Given the description of an element on the screen output the (x, y) to click on. 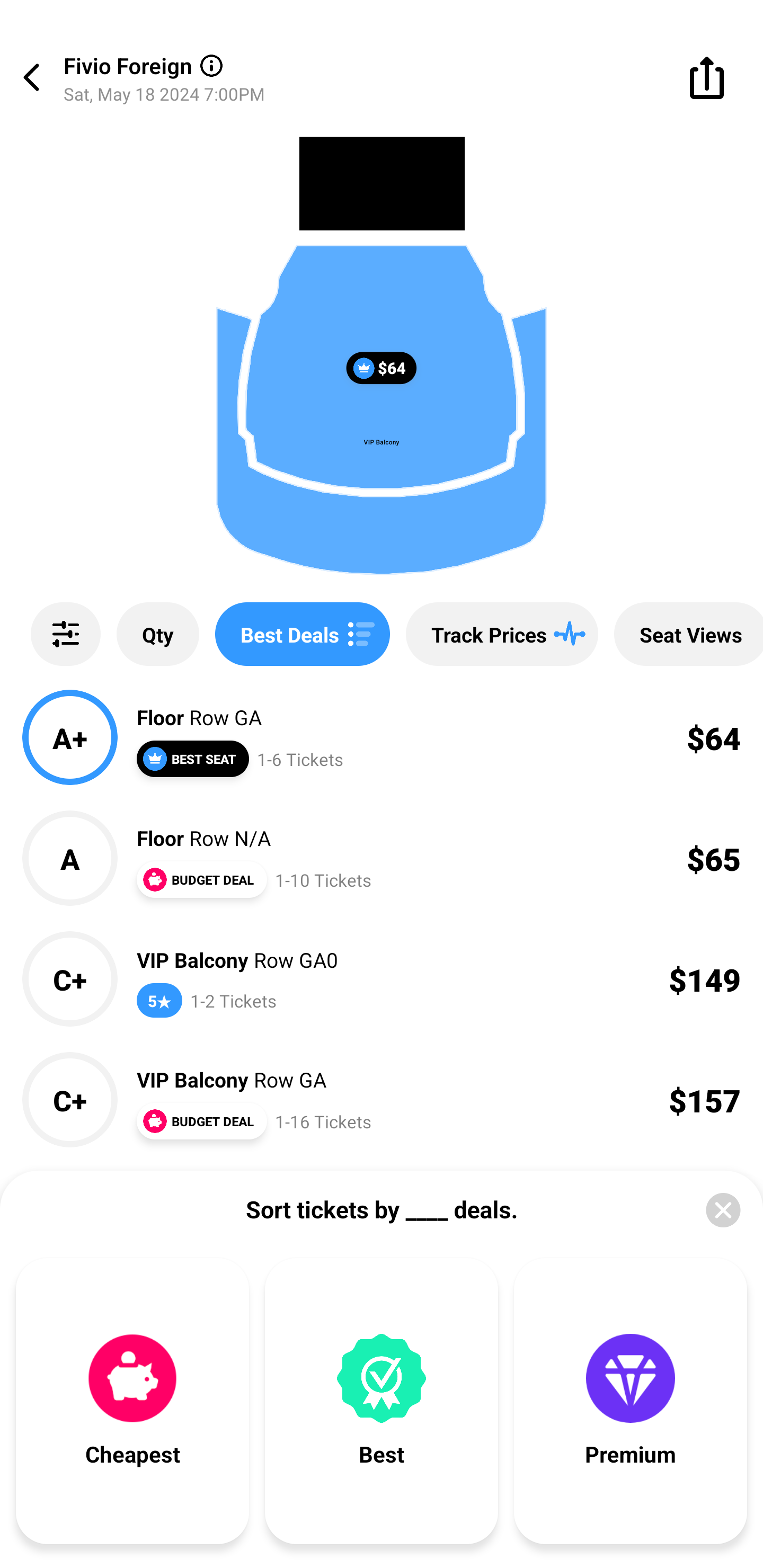
Cheapest (132, 1400)
Best (381, 1400)
Premium (630, 1400)
